Given the description of an element on the screen output the (x, y) to click on. 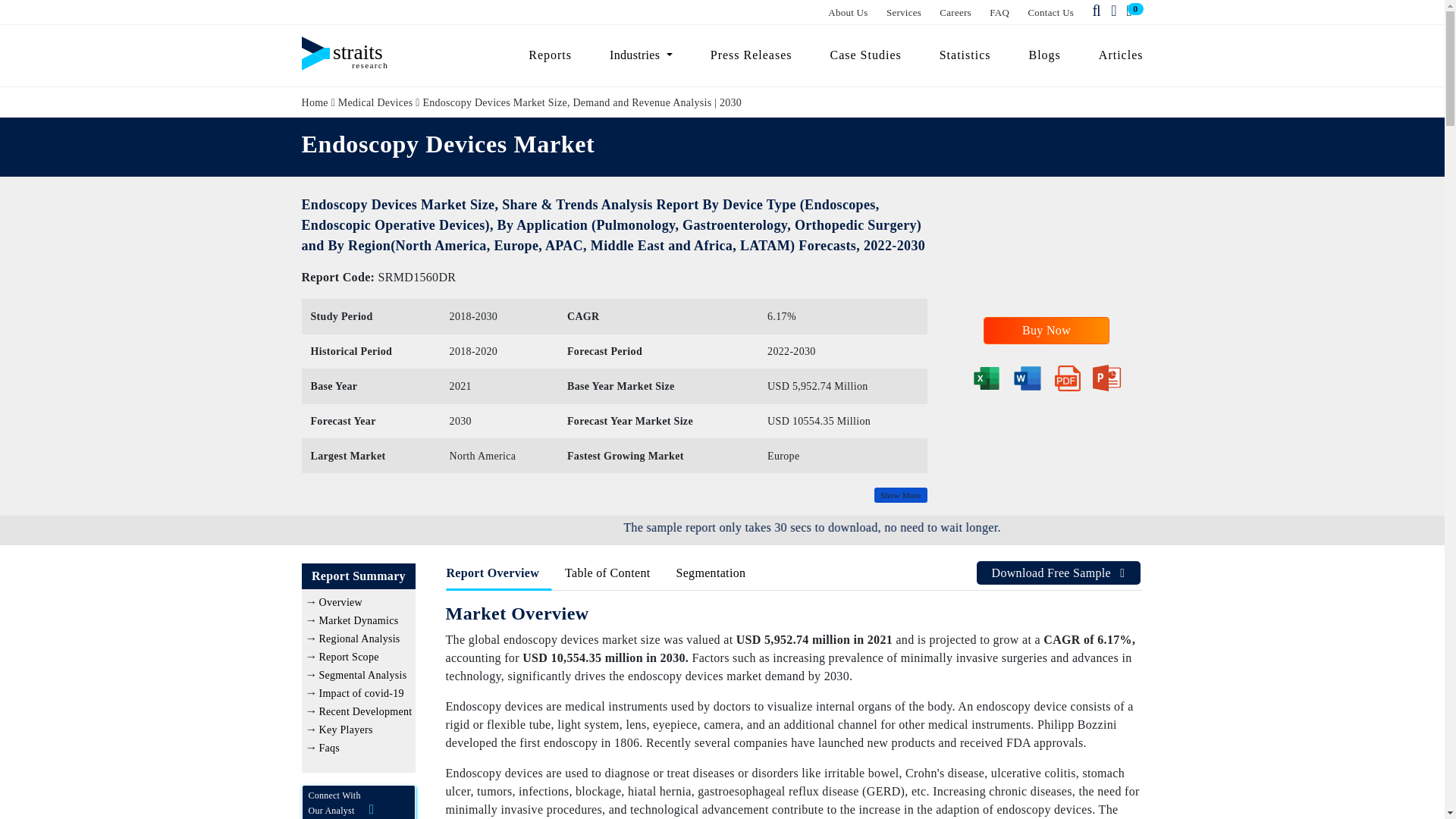
Case Studies (865, 55)
Reports (549, 55)
Cart (1130, 11)
Recent Development (365, 711)
Home (315, 102)
Impact of covid-19 (360, 693)
About Us (847, 12)
Services (903, 12)
Faqs (328, 747)
0 (1130, 11)
FAQ (999, 12)
Careers (955, 12)
Market Dynamics (357, 620)
Key Players (345, 729)
Statistics (965, 55)
